Given the description of an element on the screen output the (x, y) to click on. 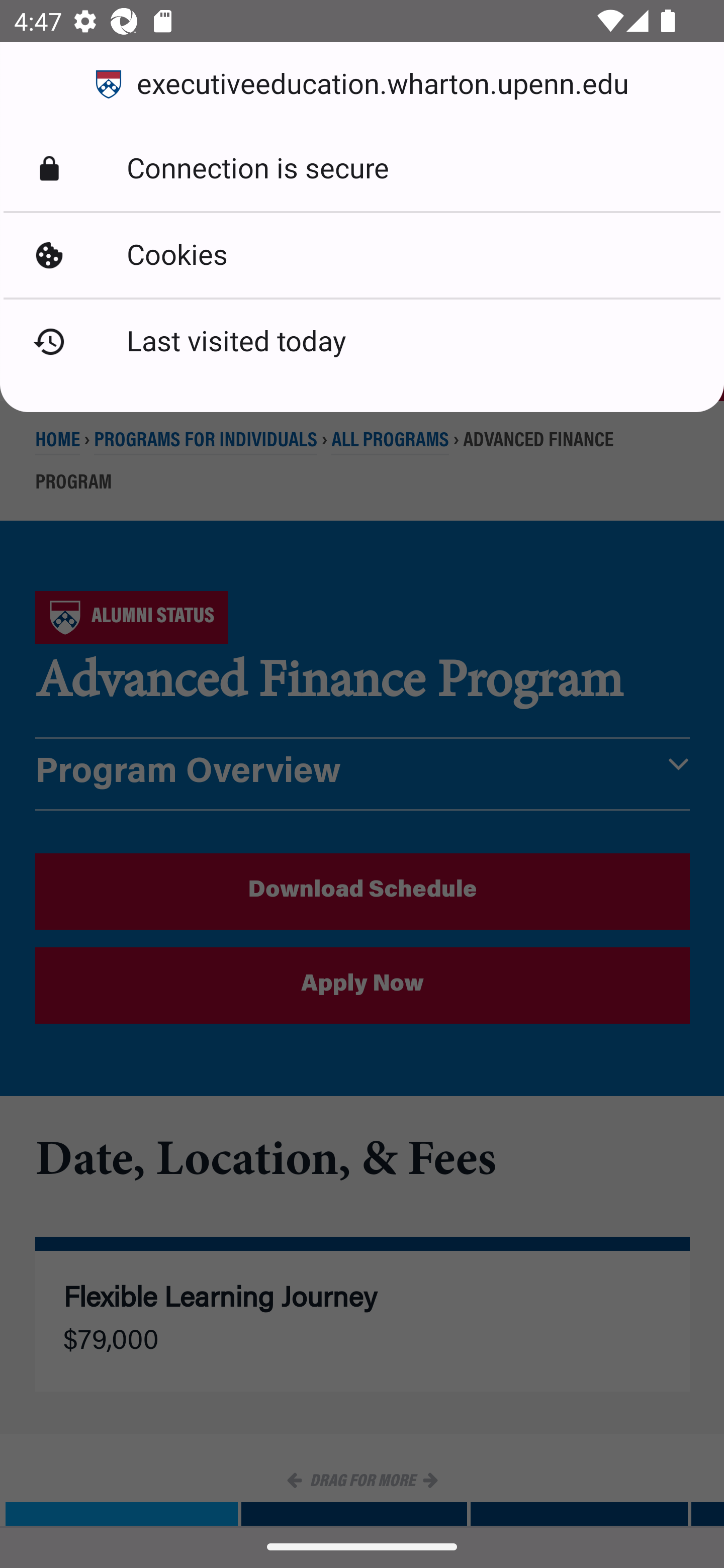
executiveeducation.wharton.upenn.edu (362, 84)
Connection is secure (362, 169)
Cookies (362, 255)
Last visited today (362, 341)
